Given the description of an element on the screen output the (x, y) to click on. 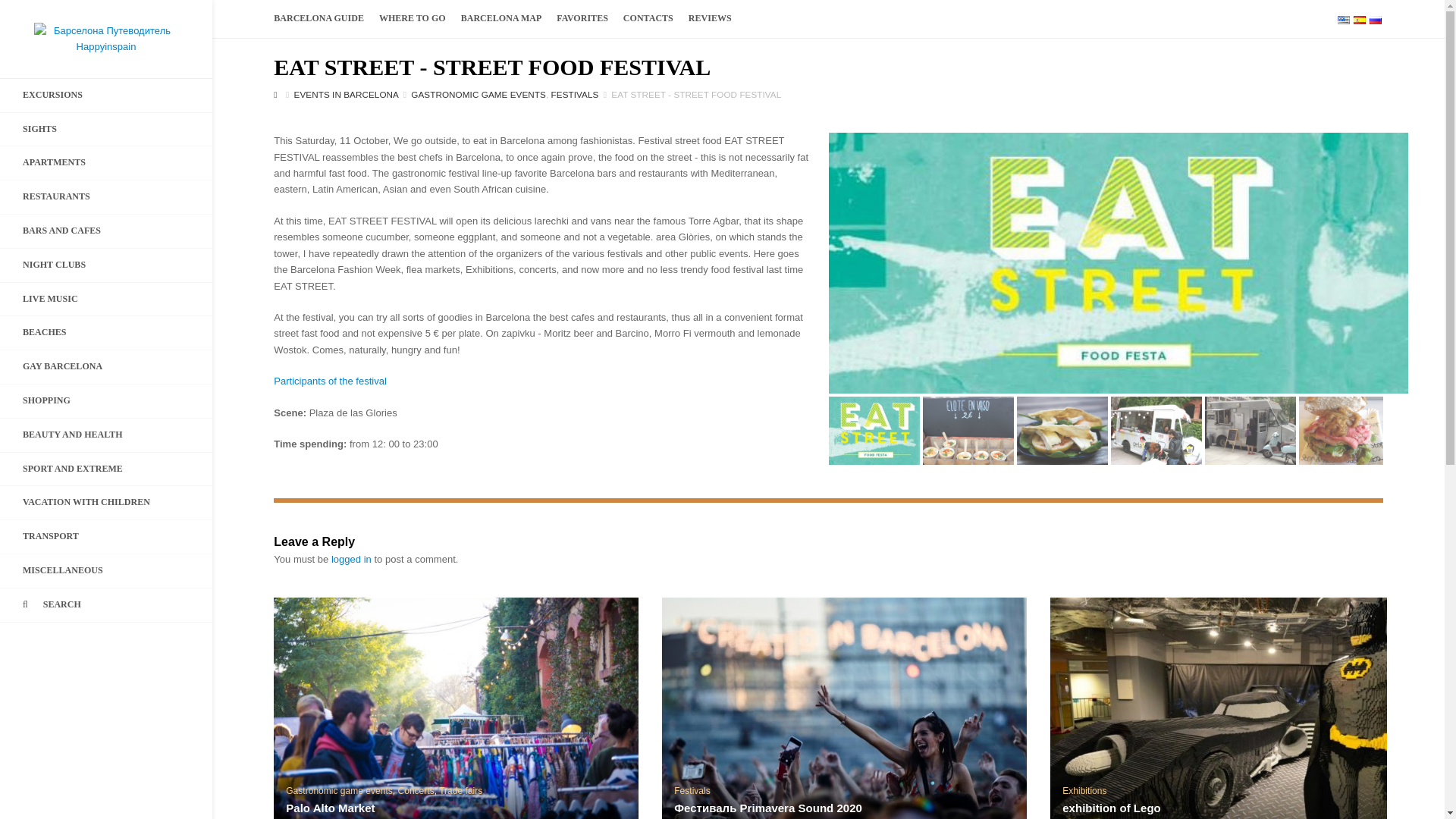
WHERE TO GO (411, 18)
Palo Alto Market (456, 708)
SIGHTS (106, 129)
BARS AND CAFES (106, 231)
Festivals (574, 94)
EXCURSIONS (106, 95)
Gastronomic game events (478, 94)
English (1343, 19)
Events in Barcelona (346, 94)
REVIEWS (710, 18)
APARTMENTS (106, 162)
BARCELONA MAP (501, 18)
CONTACTS (647, 18)
